Given the description of an element on the screen output the (x, y) to click on. 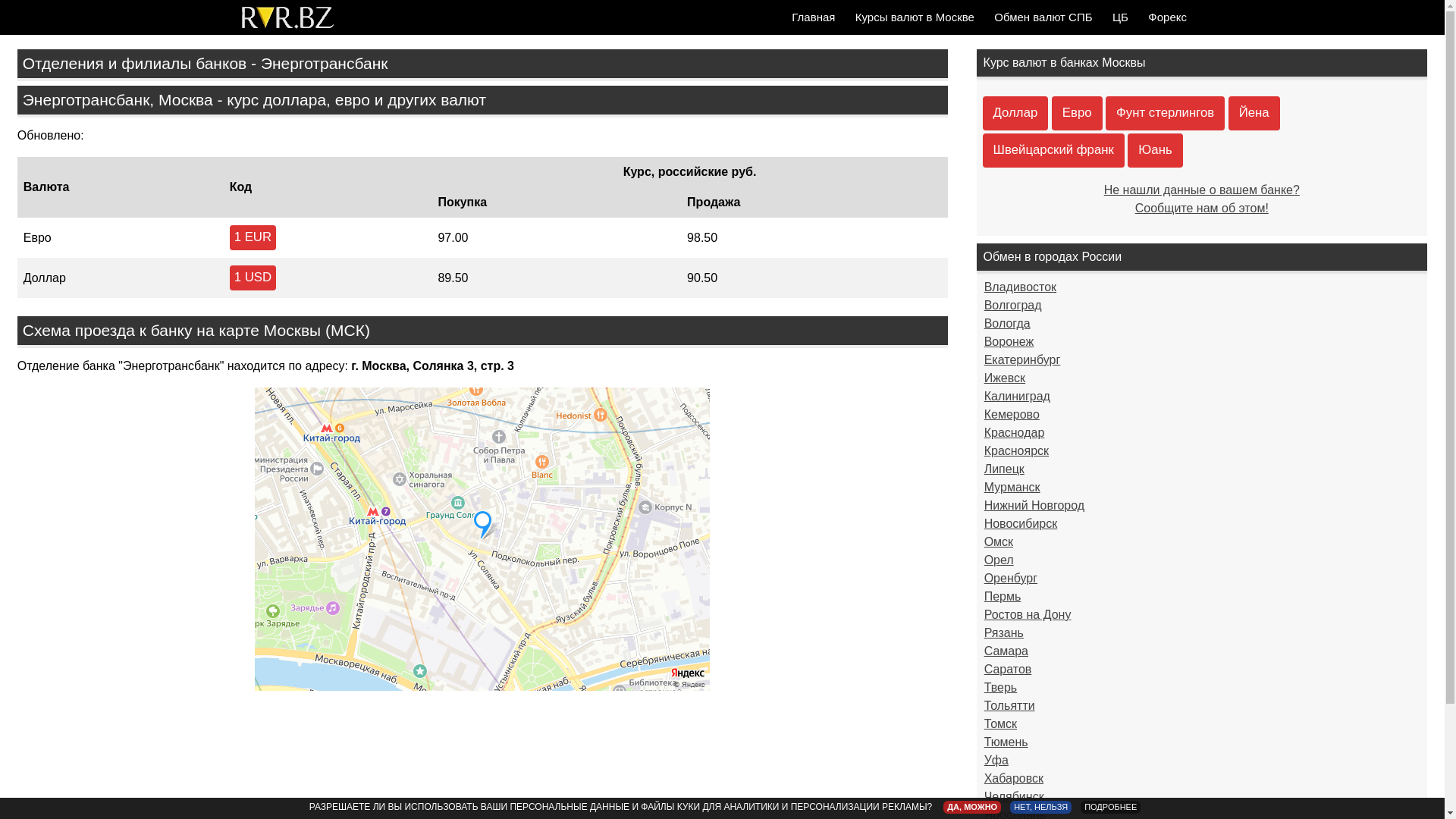
1 EUR Element type: text (252, 237)
1 USD Element type: text (252, 277)
